Given the description of an element on the screen output the (x, y) to click on. 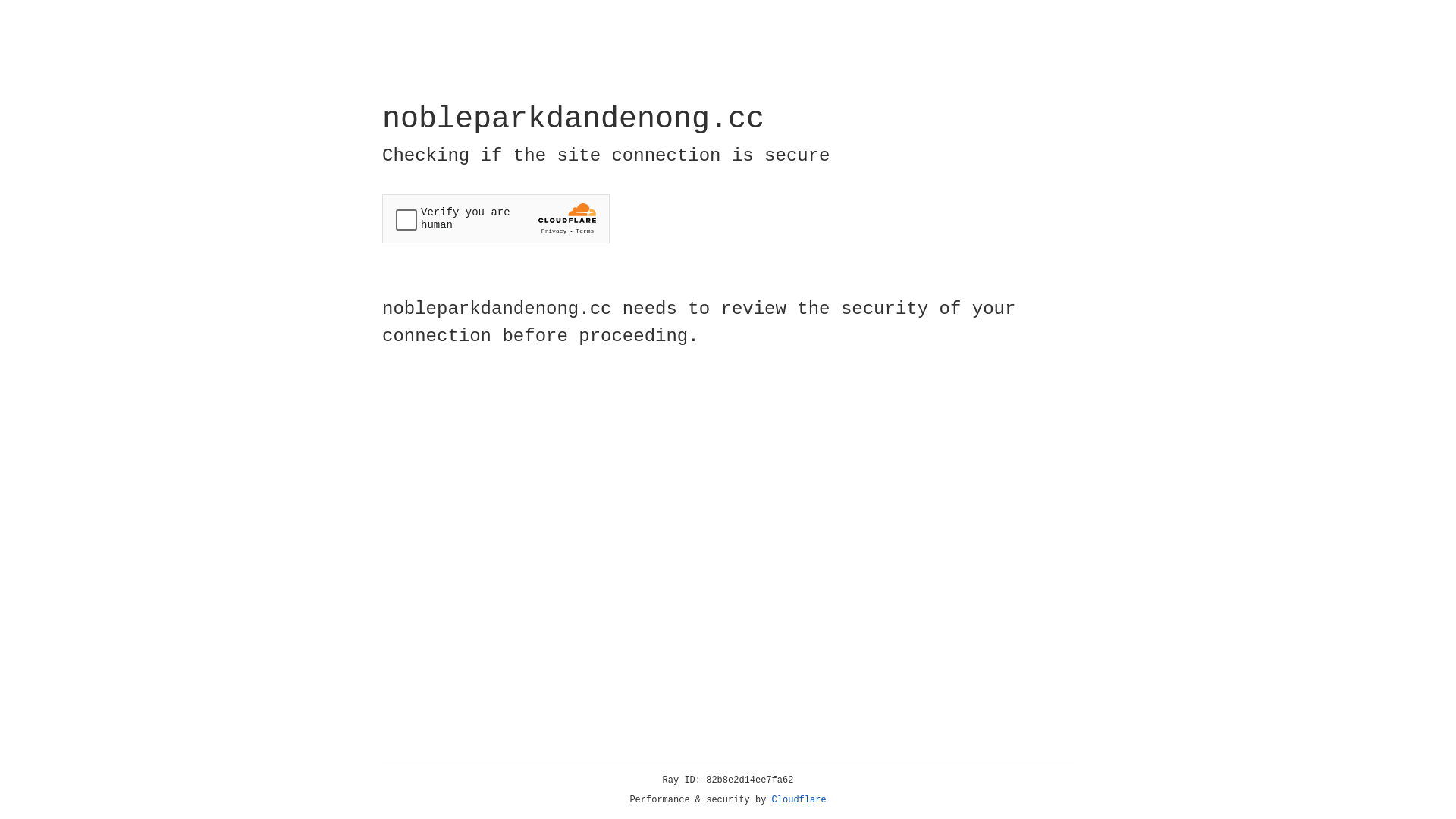
Cloudflare Element type: text (798, 799)
Widget containing a Cloudflare security challenge Element type: hover (495, 218)
